Given the description of an element on the screen output the (x, y) to click on. 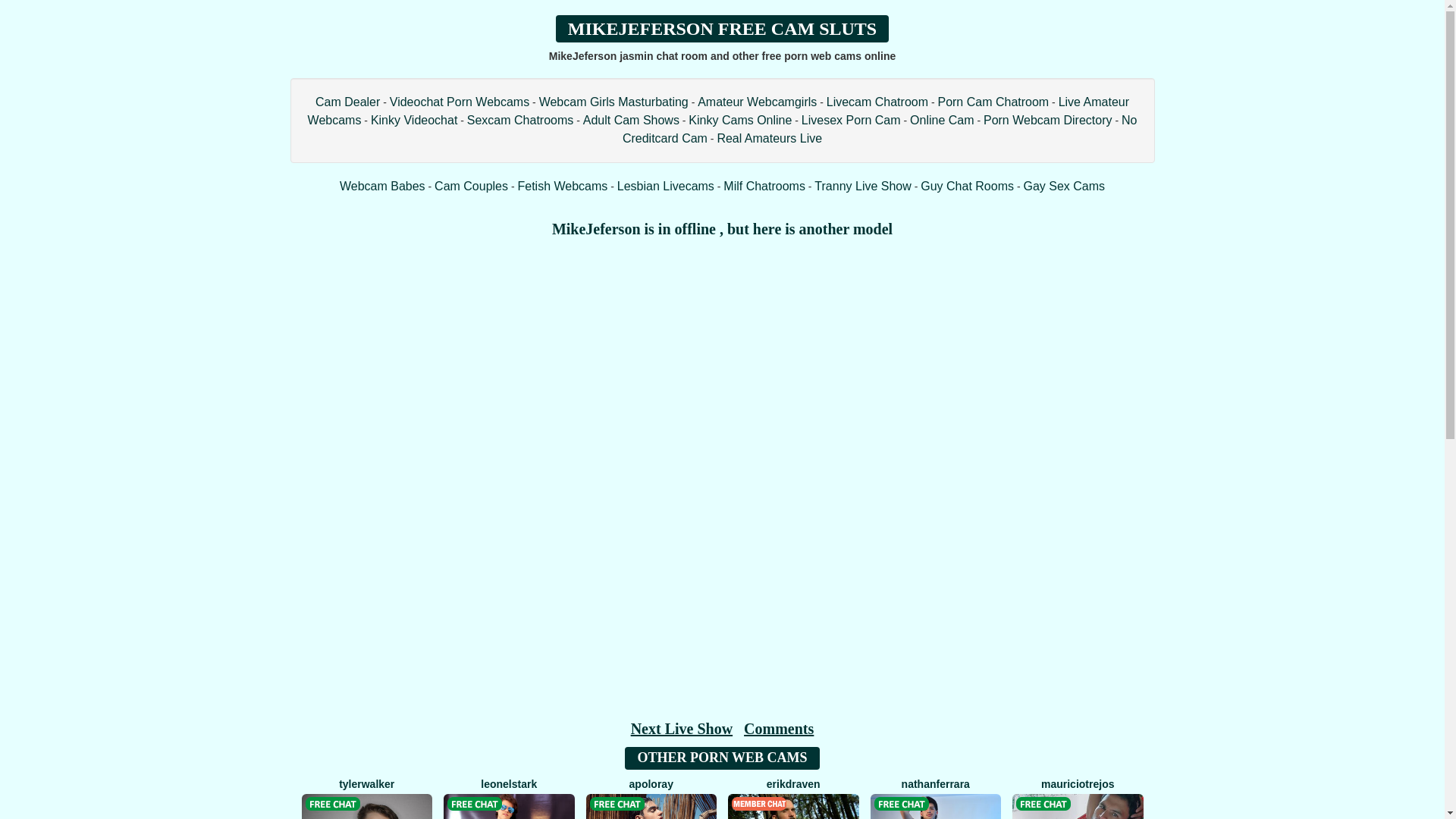
Porn Webcam Directory (1048, 119)
Gay Sex Cams (1064, 185)
Kinky Videochat (414, 119)
Fetish Webcams (561, 185)
No Creditcard Cam (880, 128)
Webcam Girls Masturbating (613, 101)
Livecam Chatroom (877, 101)
Porn Cam Chatroom (992, 101)
Webcam Babes (382, 185)
Online Cam (942, 119)
ErikDraven (793, 798)
Videochat Porn Webcams (459, 101)
Tranny Live Show (862, 185)
Cam Dealer (347, 101)
MauricioTrejos (1078, 798)
